Given the description of an element on the screen output the (x, y) to click on. 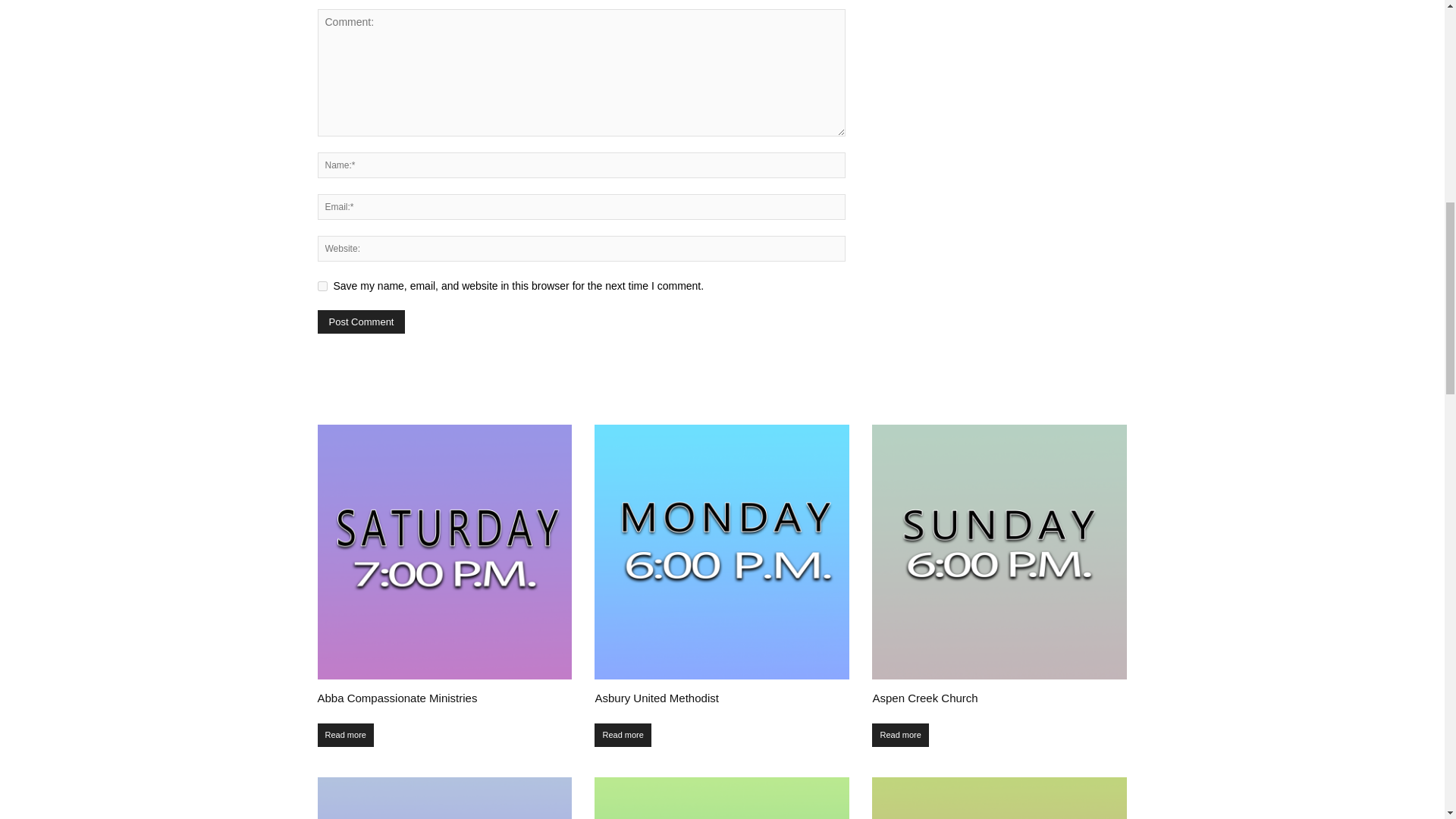
yes (321, 286)
Post Comment (360, 321)
Post Comment (360, 321)
